Given the description of an element on the screen output the (x, y) to click on. 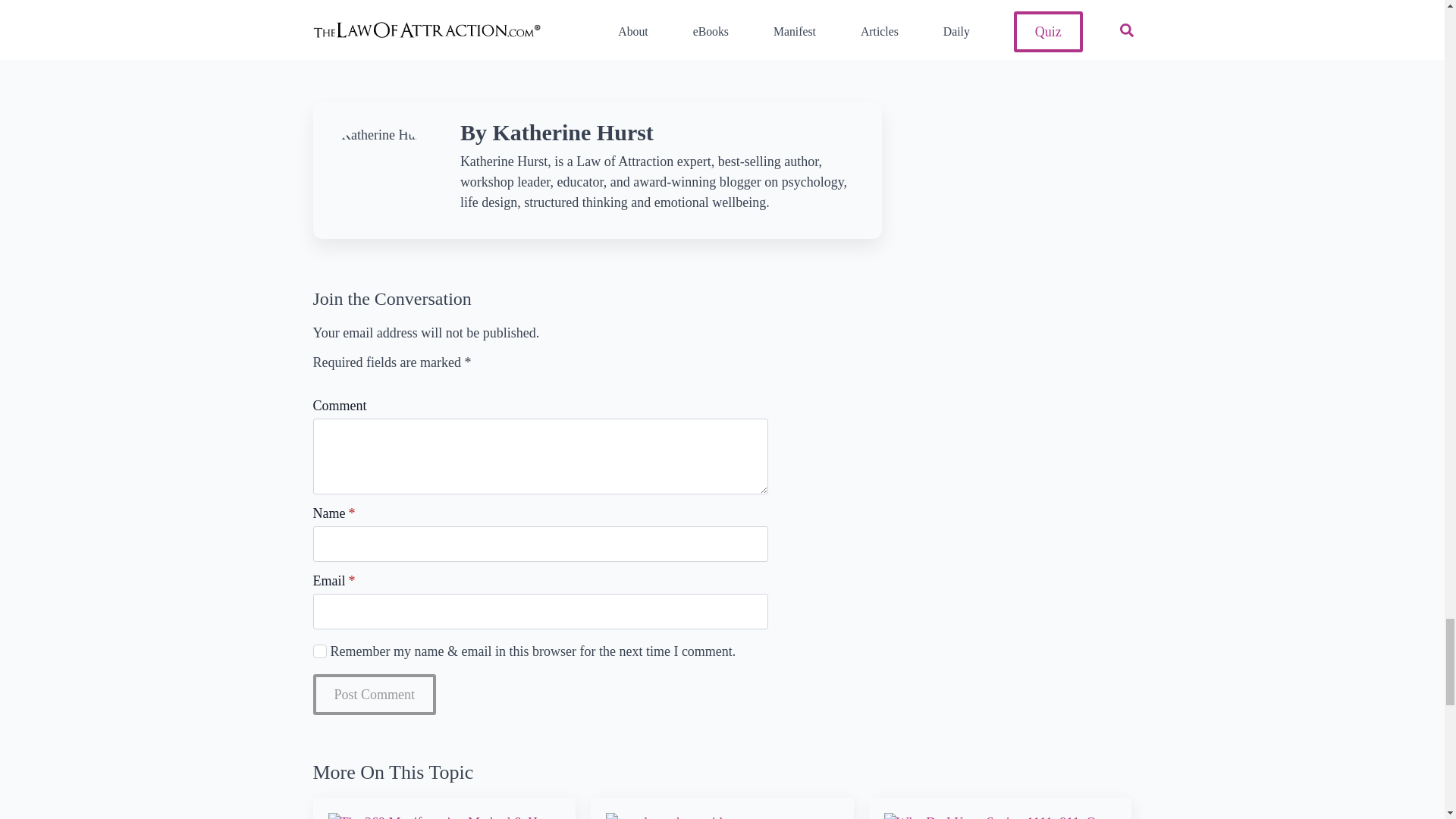
Post Comment (374, 694)
yes (319, 651)
